Given the description of an element on the screen output the (x, y) to click on. 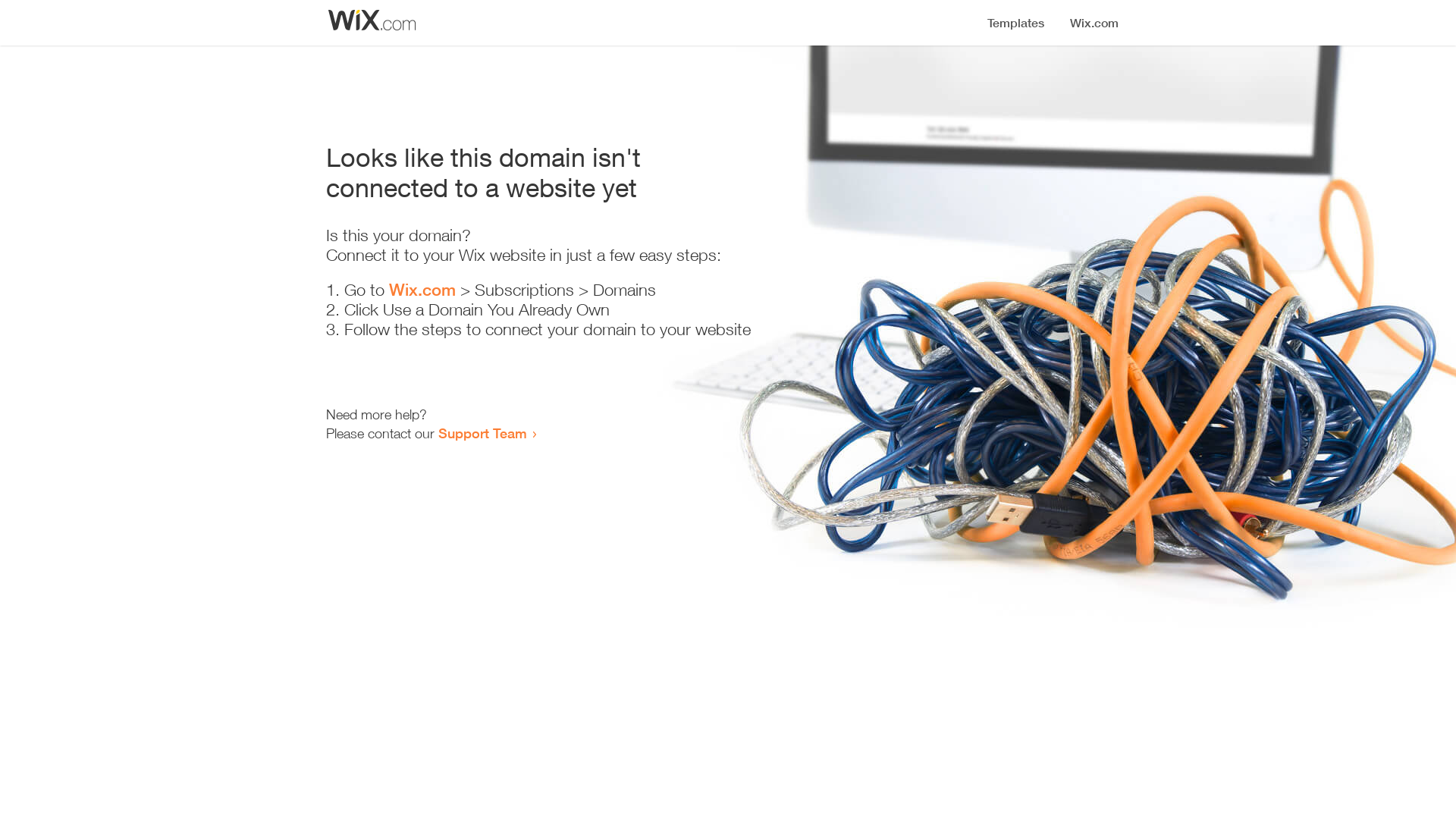
Wix.com Element type: text (422, 289)
Support Team Element type: text (482, 432)
